Given the description of an element on the screen output the (x, y) to click on. 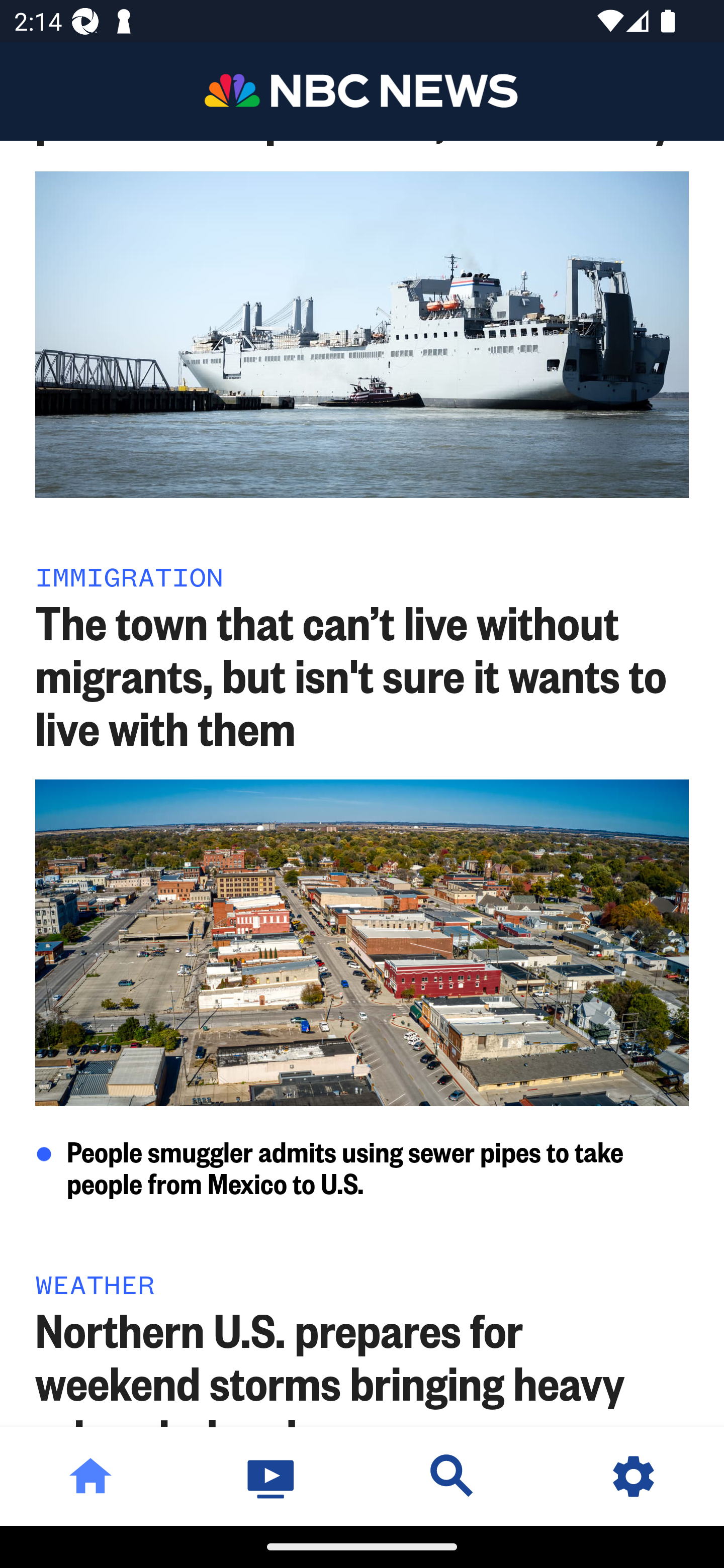
Watch (271, 1475)
Discover (452, 1475)
Settings (633, 1475)
